Given the description of an element on the screen output the (x, y) to click on. 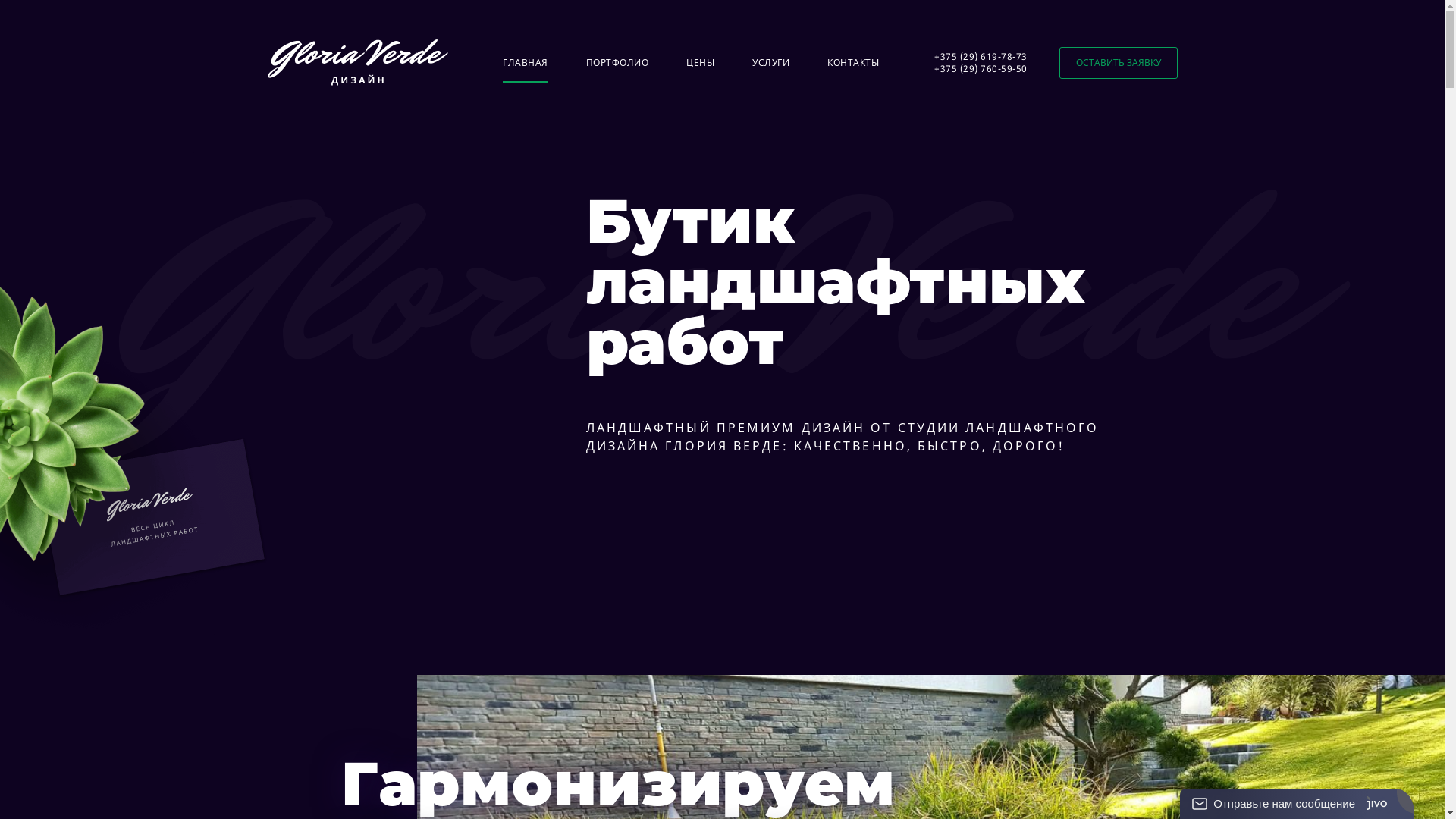
+375 (29) 619-78-73 Element type: text (980, 56)
+375 (29) 760-59-50 Element type: text (980, 68)
